Given the description of an element on the screen output the (x, y) to click on. 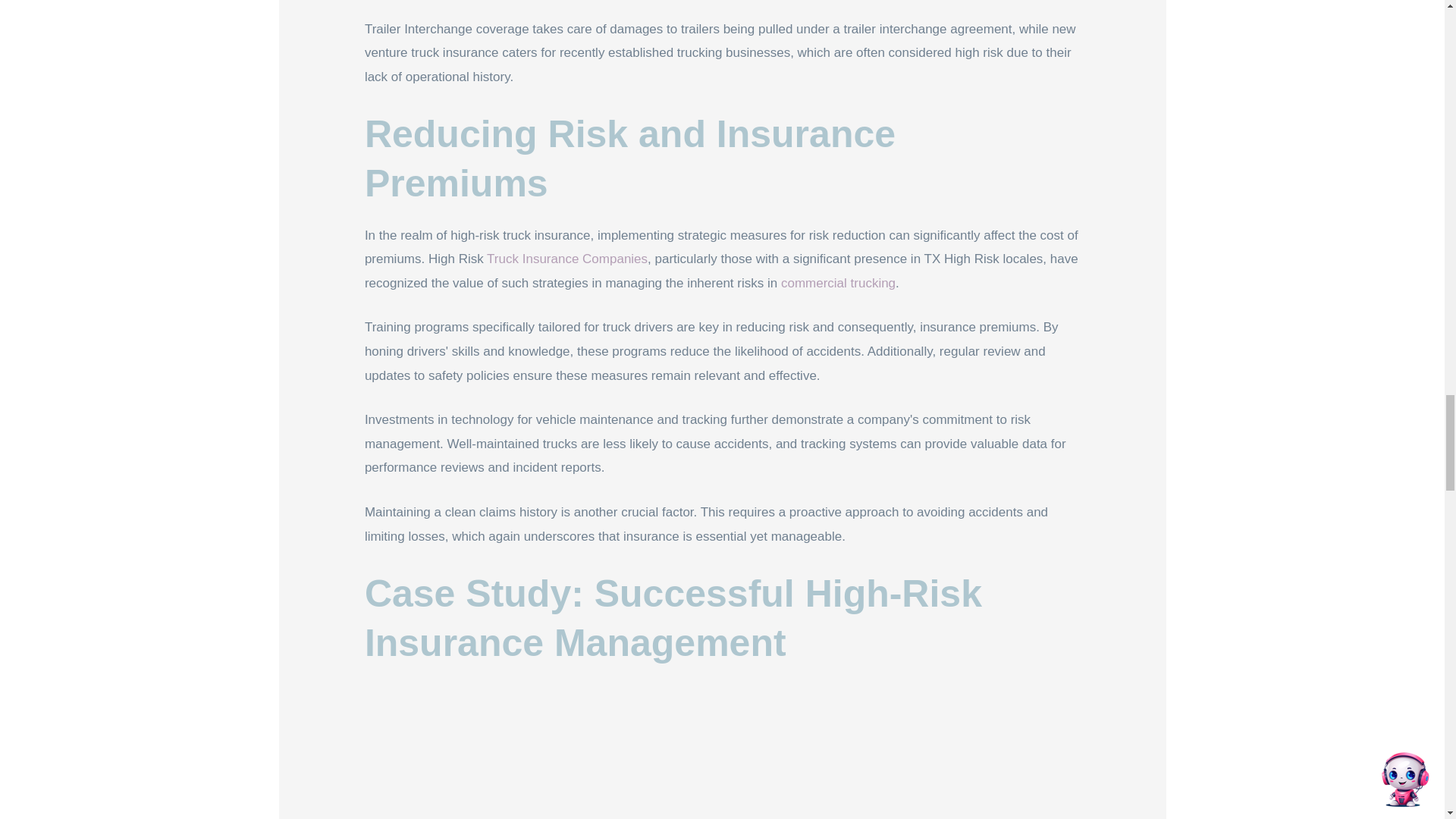
commercial trucking (837, 283)
Truck Insurance Companies (566, 258)
Commercial Trucking (837, 283)
Truck Insurance Companies (566, 258)
